Given the description of an element on the screen output the (x, y) to click on. 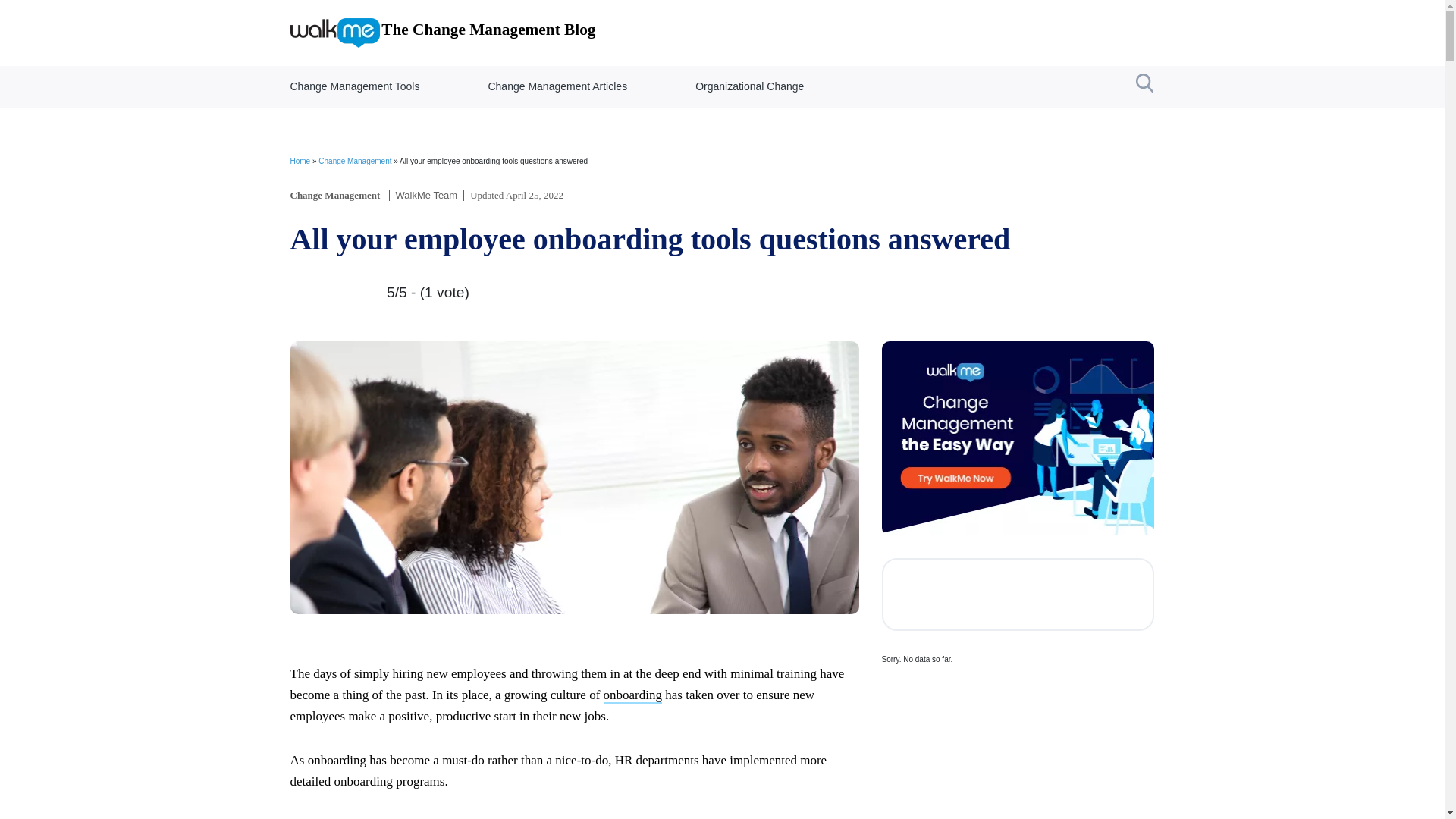
WalkMe Team (427, 194)
Change Management Tools (355, 86)
The Change Management Blog (442, 31)
Change Management (354, 161)
Organizational Change (749, 86)
Home (299, 161)
Change Management (334, 194)
Change Management Articles (556, 86)
onboarding (633, 695)
The Change Management Blog (442, 31)
